Given the description of an element on the screen output the (x, y) to click on. 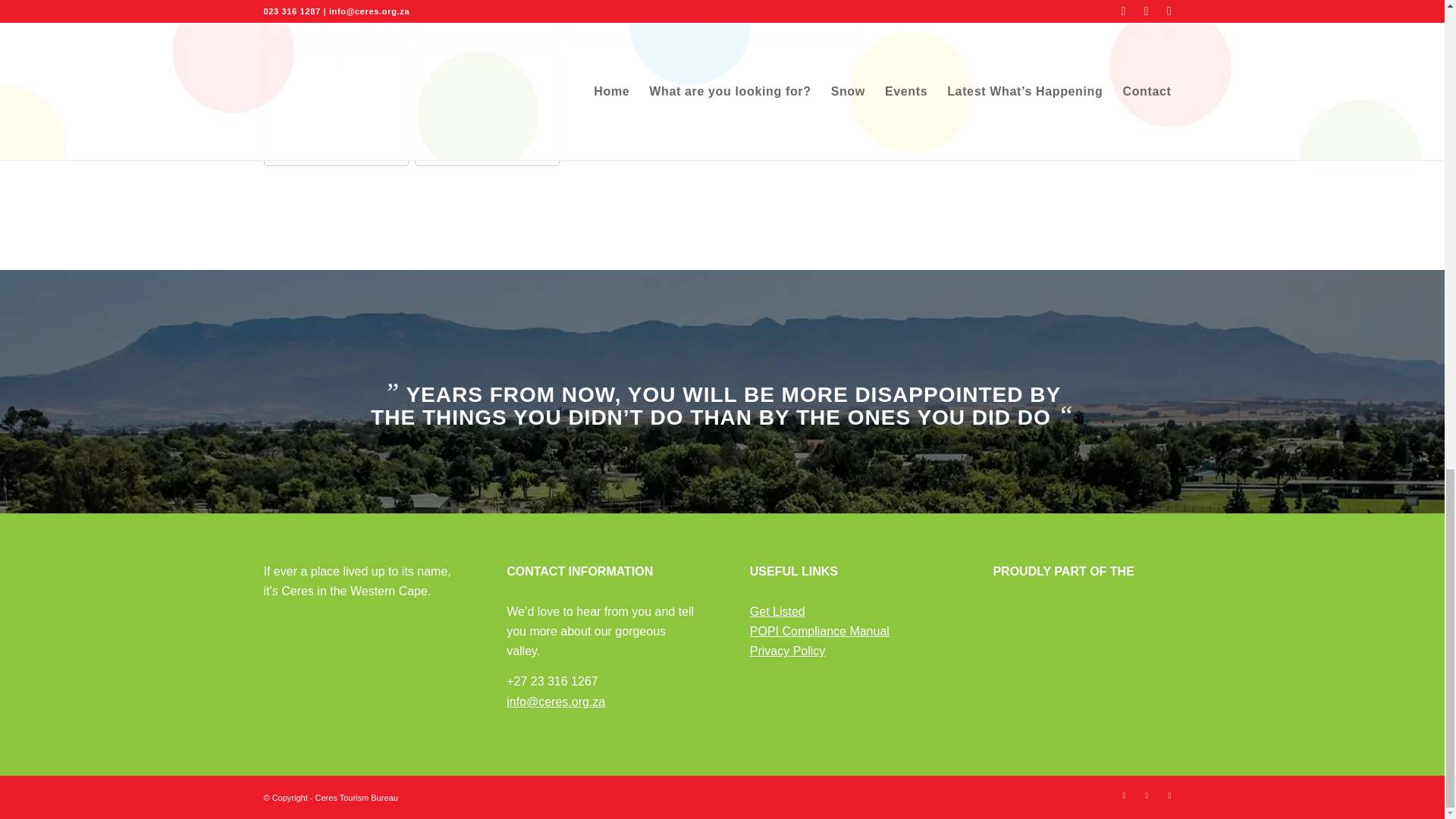
Witzenberg Logo High res (1086, 627)
Mail (1169, 794)
White-logo (357, 674)
Instagram (1146, 794)
Facebook (1124, 794)
